Given the description of an element on the screen output the (x, y) to click on. 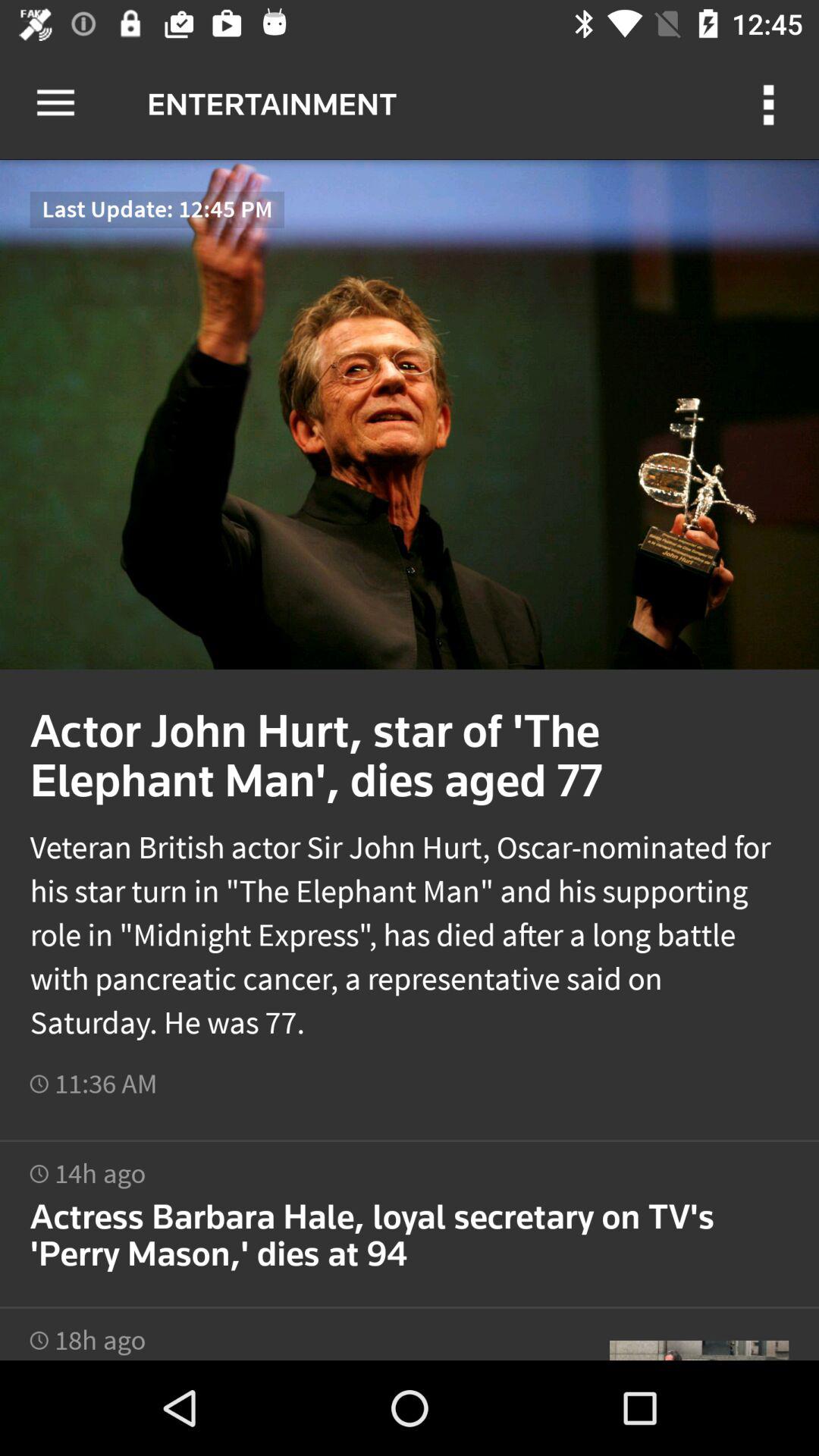
choose a notice (409, 1215)
